Given the description of an element on the screen output the (x, y) to click on. 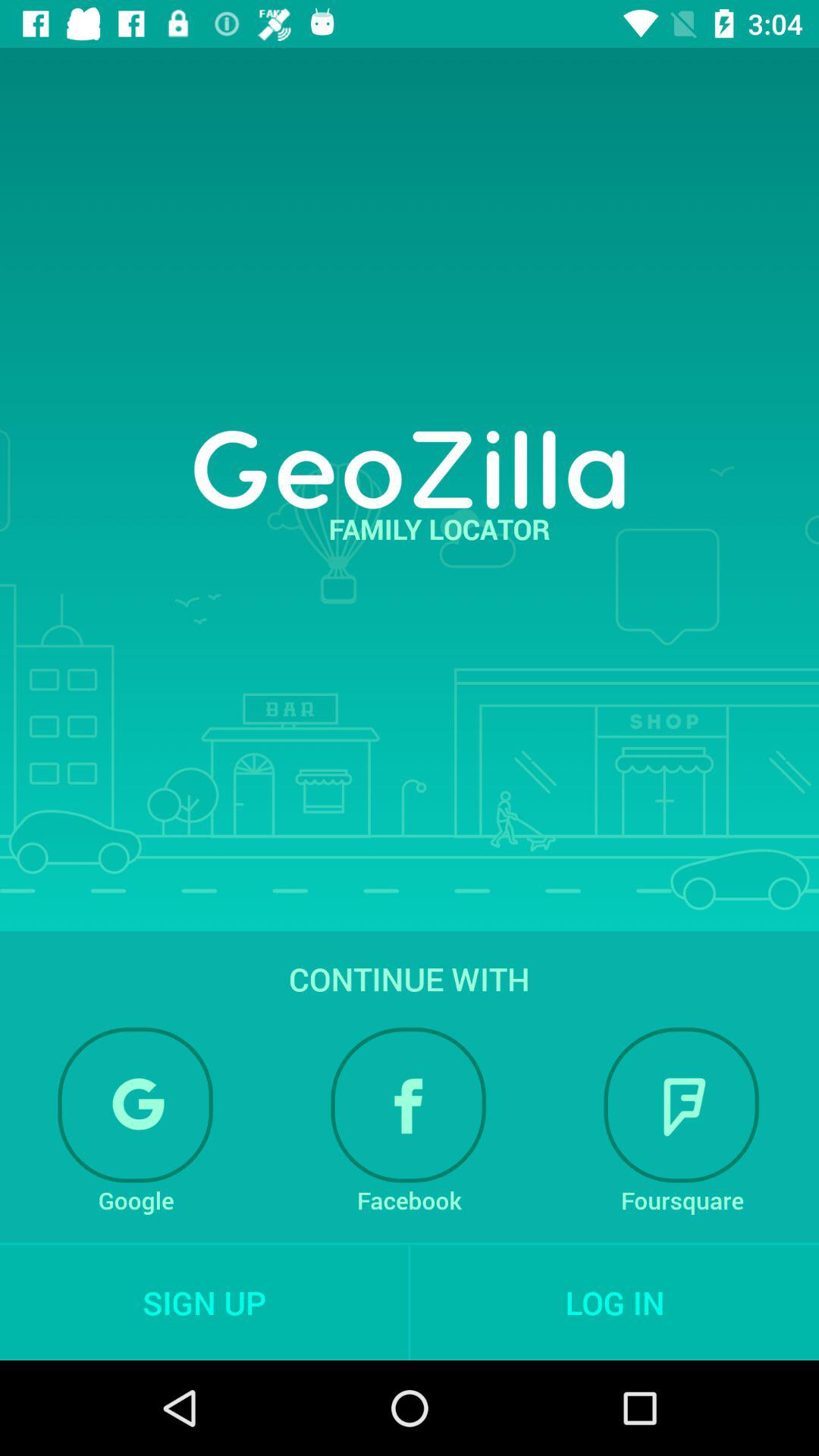
connect on google (135, 1105)
